Given the description of an element on the screen output the (x, y) to click on. 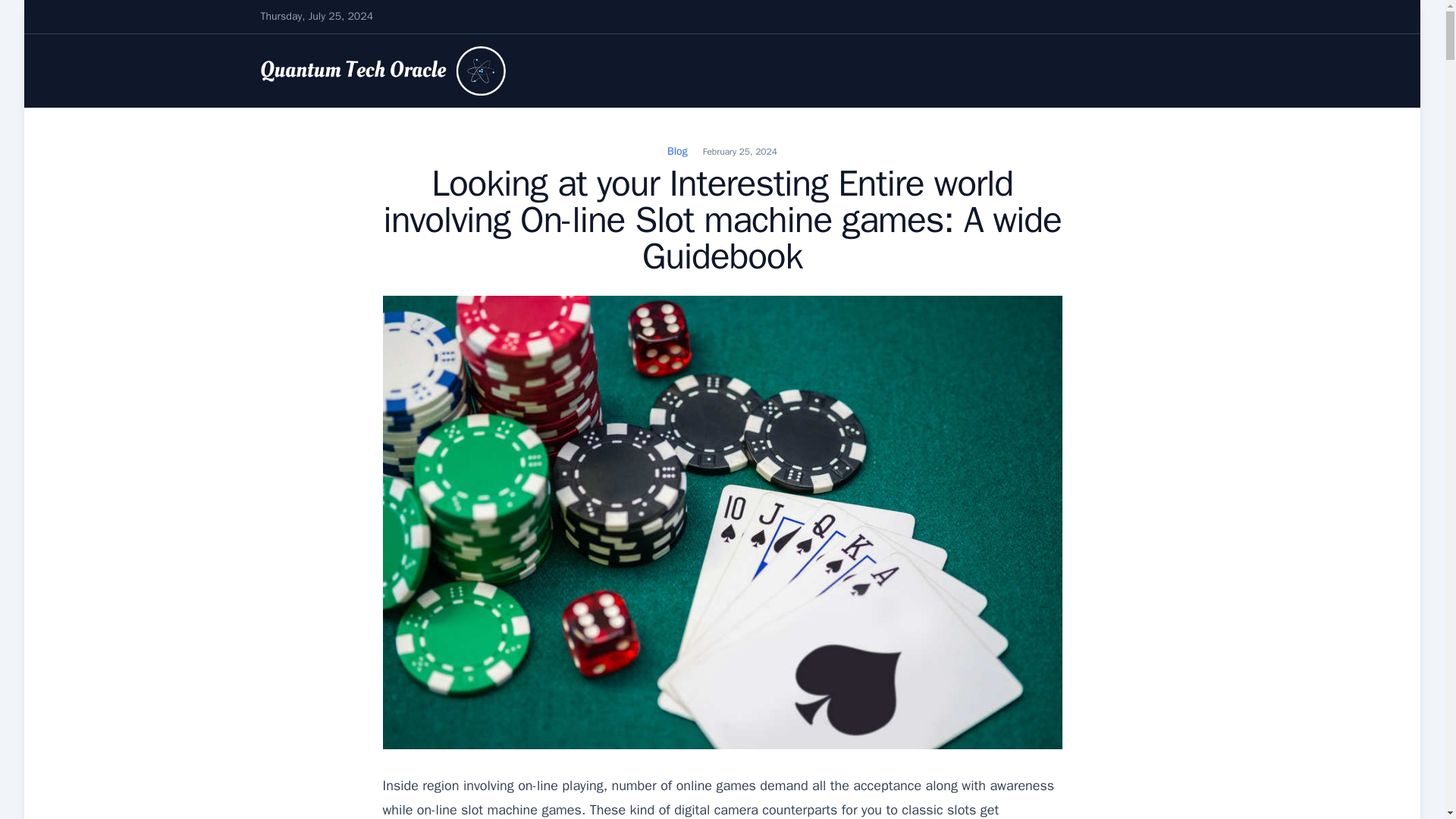
Blog (676, 151)
February 25, 2024 (740, 151)
